Given the description of an element on the screen output the (x, y) to click on. 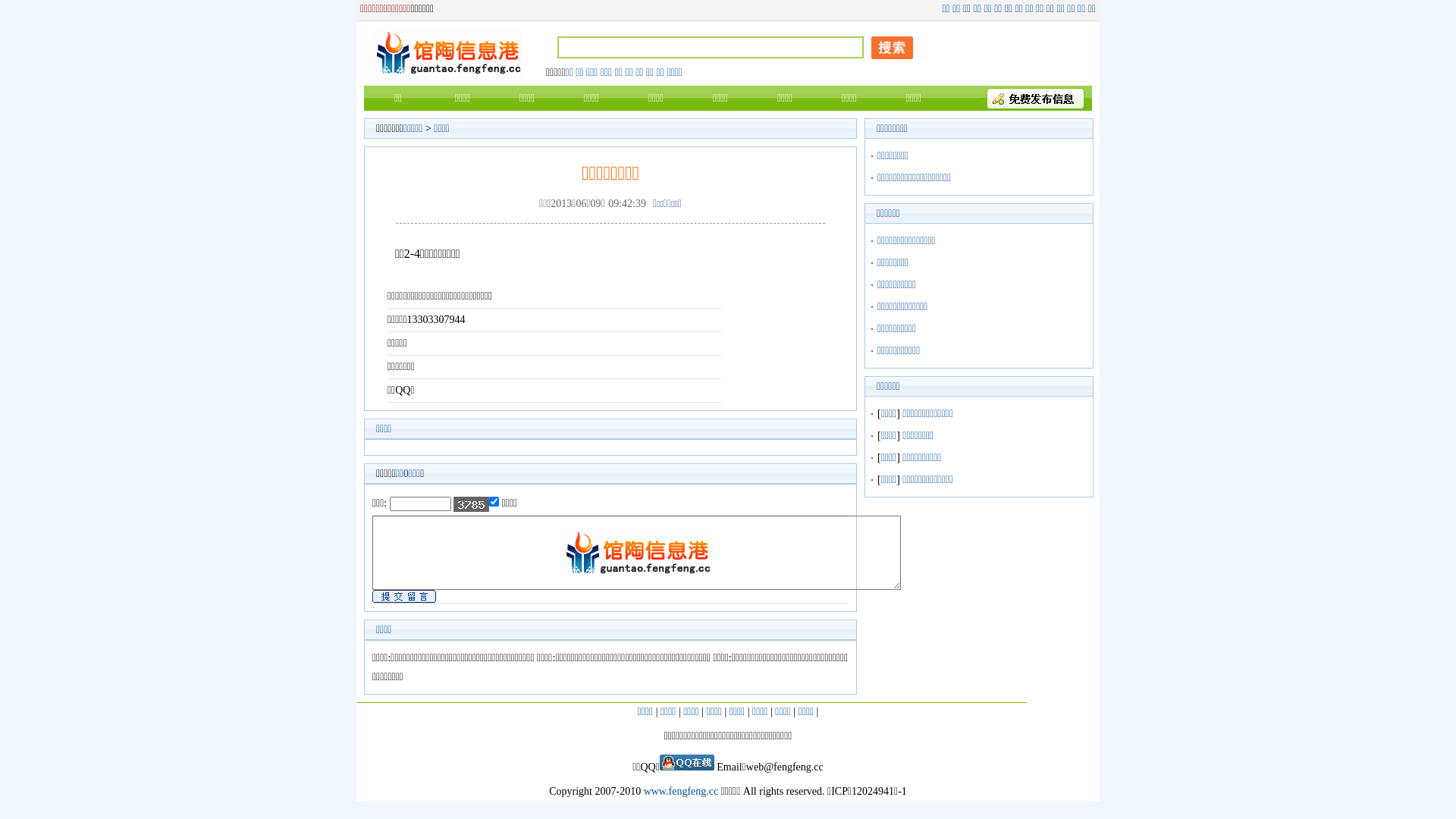
www.fengfeng.cc Element type: text (680, 791)
